Given the description of an element on the screen output the (x, y) to click on. 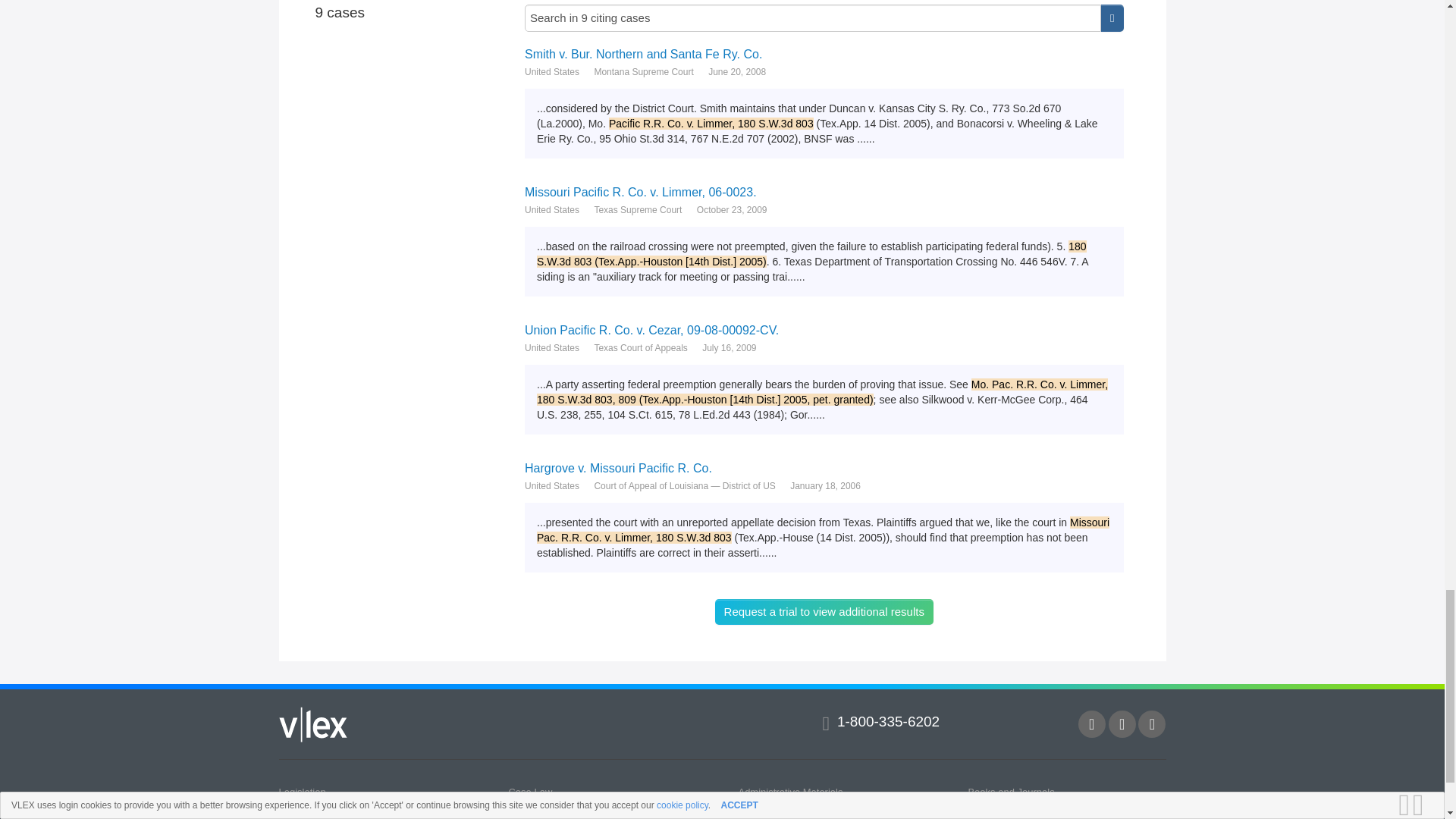
Union Pacific R. Co. v. Cezar, 09-08-00092-CV. (824, 329)
Smith v. Bur. Northern and Santa Fe Ry. Co. (824, 53)
Acts and Session Laws (789, 810)
Texas Court of Appeals (640, 346)
Missouri Pacific R. Co. v. Limmer, 06-0023. (824, 192)
Regulations (534, 810)
Smith v. Bur. Northern and Santa Fe Ry. Co. (824, 53)
United States (551, 346)
United States (551, 485)
Montana Supreme Court (643, 70)
June 20, 2008 (736, 70)
Case Law (529, 790)
United States (551, 209)
July 16, 2009 (728, 346)
Hargrove v. Missouri Pacific R. Co. (824, 468)
